Given the description of an element on the screen output the (x, y) to click on. 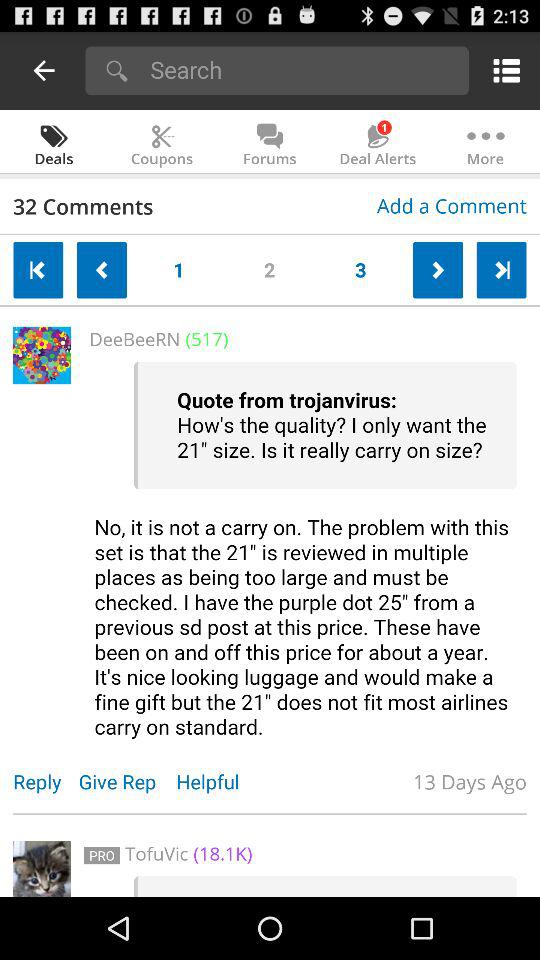
go to next comment (437, 270)
